Given the description of an element on the screen output the (x, y) to click on. 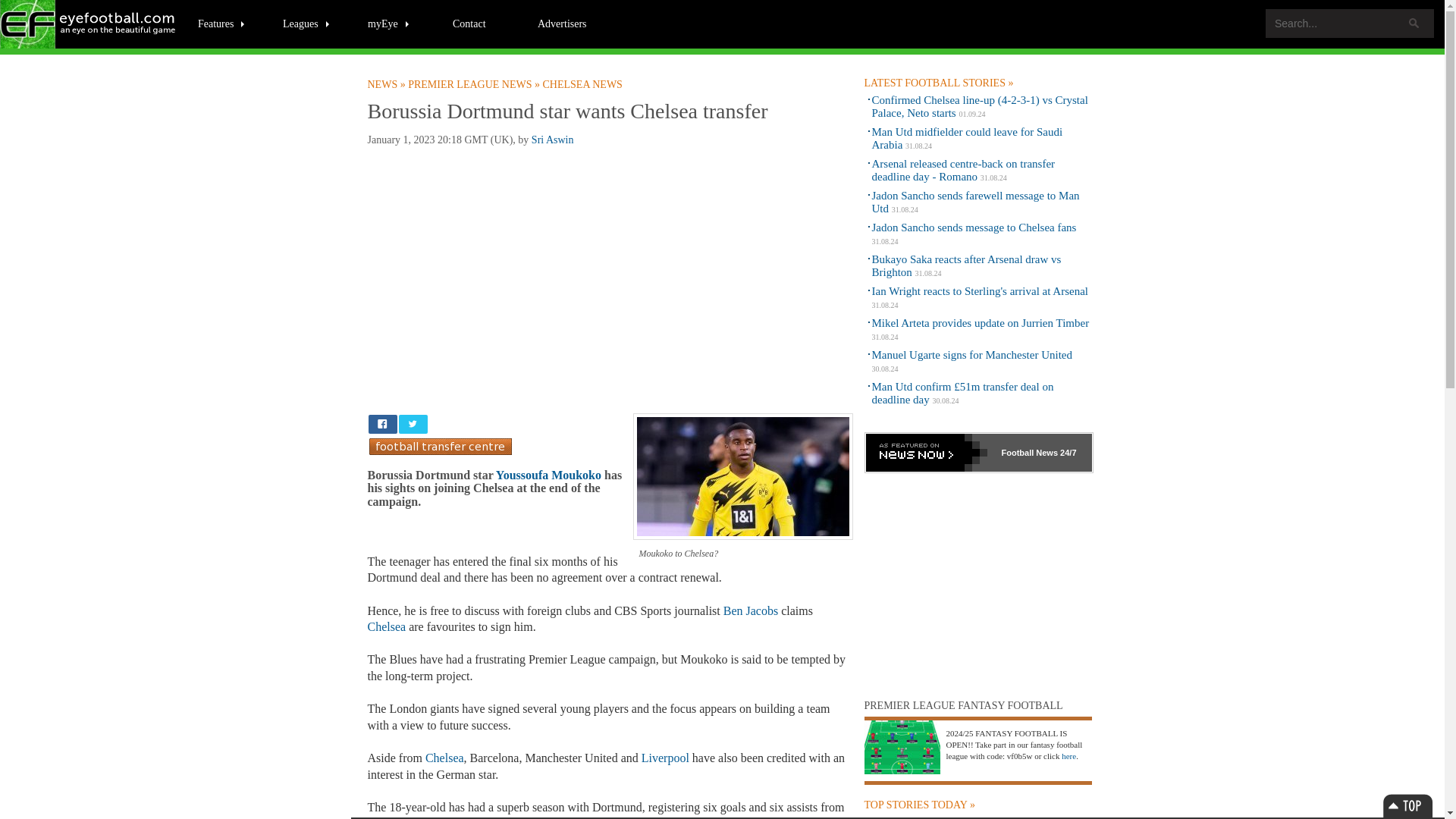
Ben Jacobs (750, 610)
Features (221, 23)
Chelsea (444, 757)
Search (1414, 22)
Top (1407, 805)
Youssoufa Moukoko (548, 474)
Sri Aswin (552, 139)
Leagues (306, 23)
Chelsea (386, 626)
Contact (469, 23)
